Given the description of an element on the screen output the (x, y) to click on. 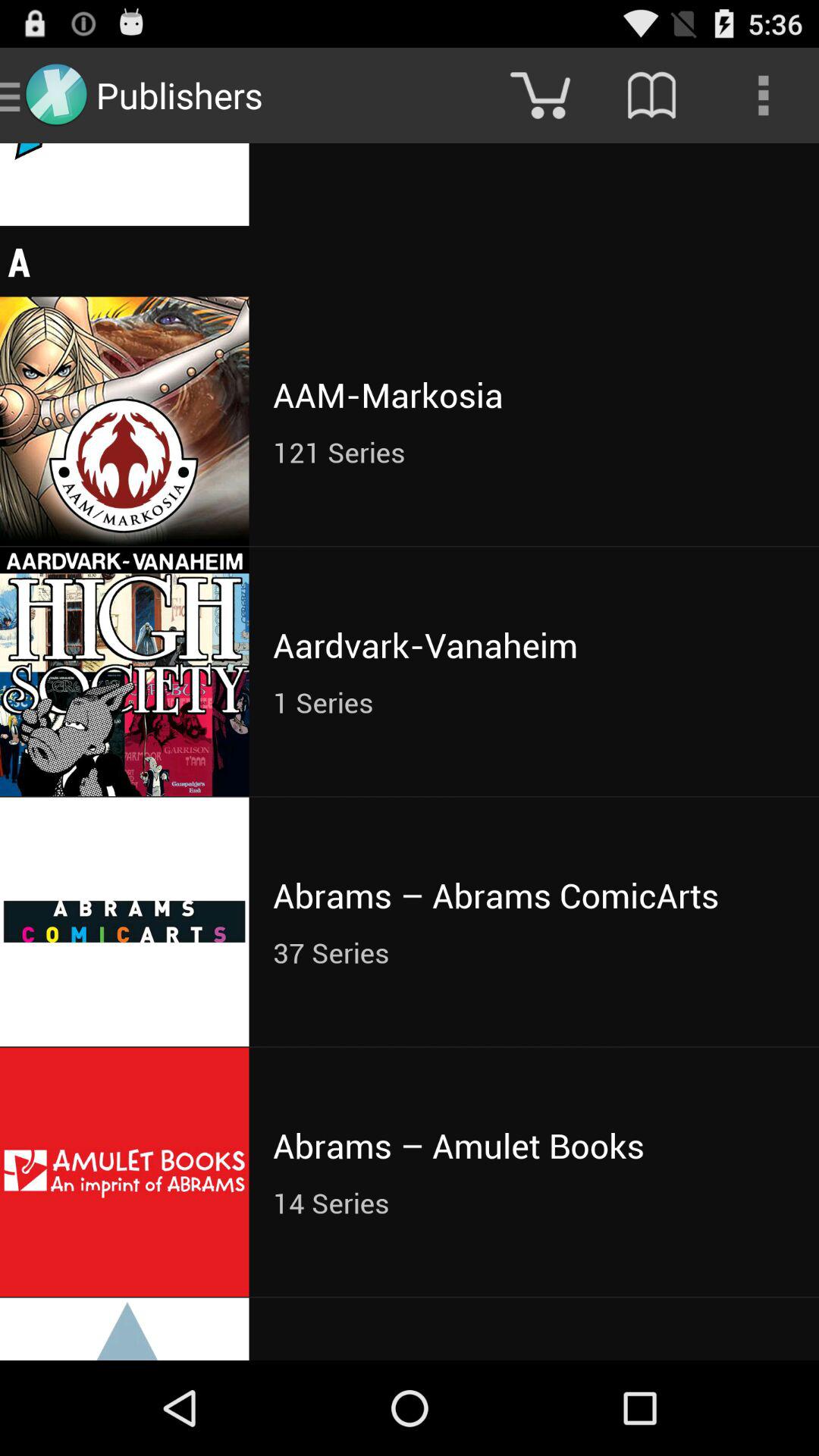
swipe to 121 series (534, 451)
